Given the description of an element on the screen output the (x, y) to click on. 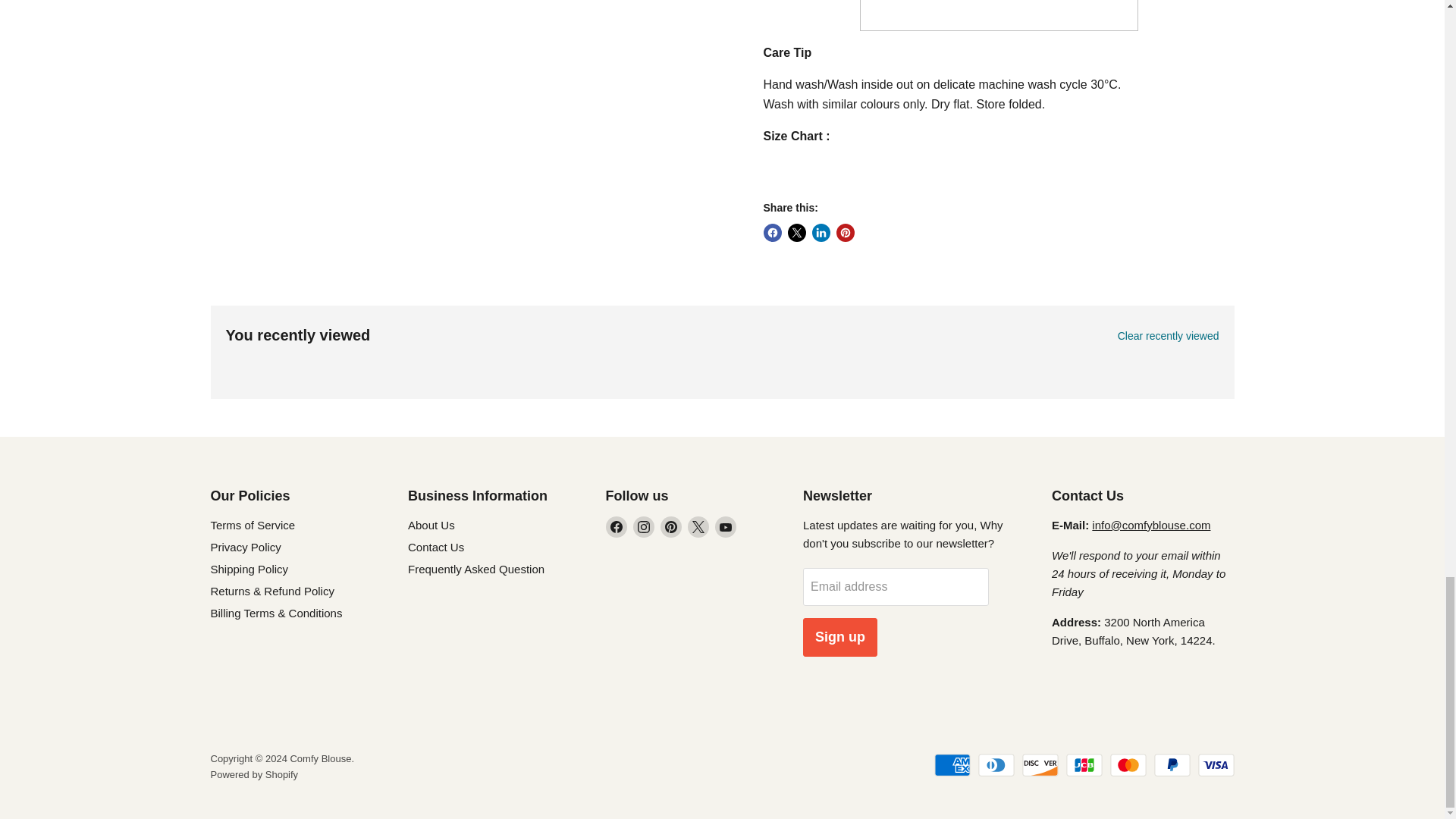
Pinterest (670, 526)
Diners Club (996, 764)
Facebook (615, 526)
American Express (952, 764)
Discover (1040, 764)
Instagram (642, 526)
YouTube (724, 526)
JCB (1083, 764)
Mastercard (1128, 764)
X (697, 526)
